Given the description of an element on the screen output the (x, y) to click on. 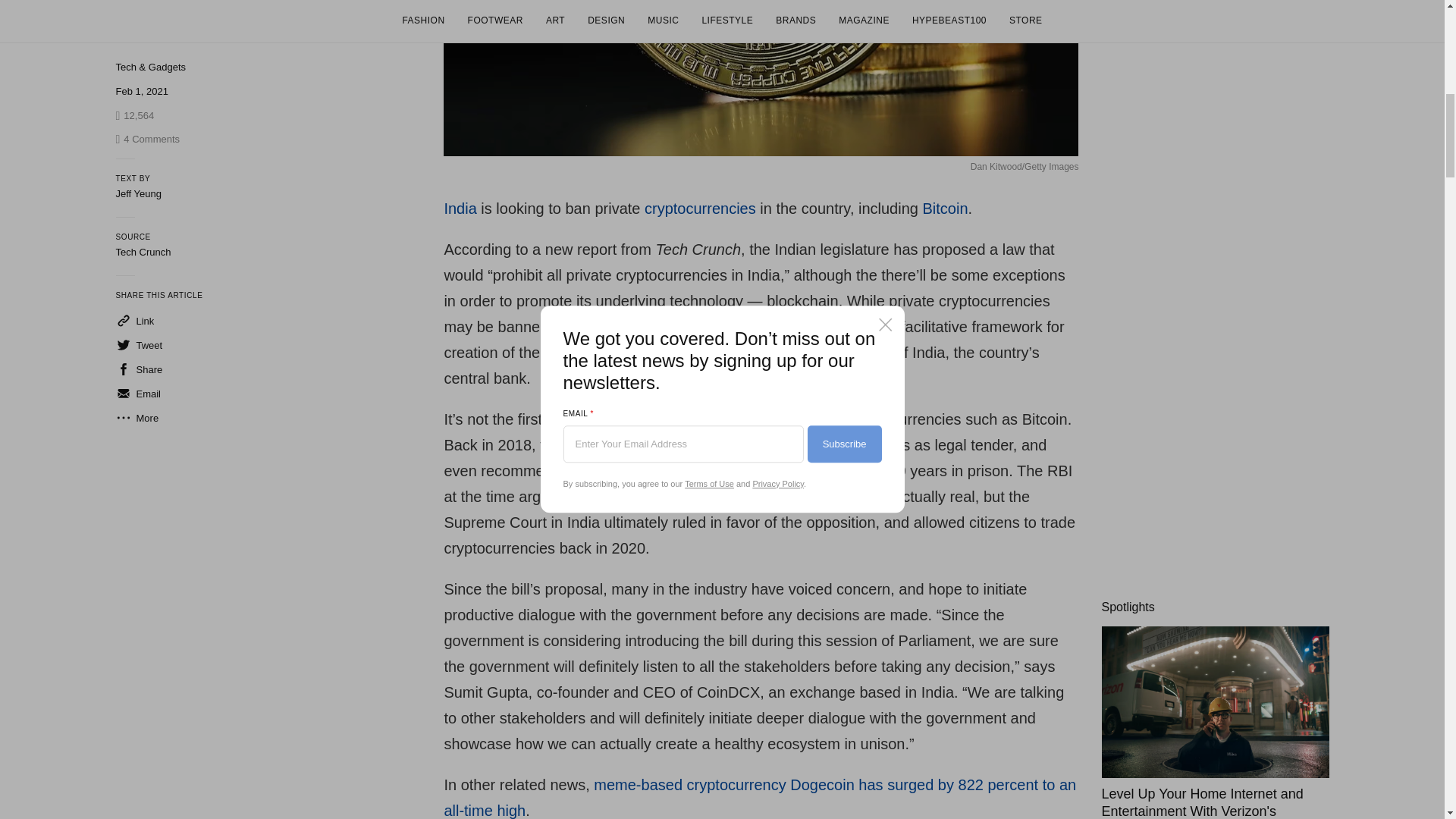
India (460, 208)
Bitcoin (944, 208)
3rd party ad content (1213, 94)
cryptocurrencies (700, 208)
